Given the description of an element on the screen output the (x, y) to click on. 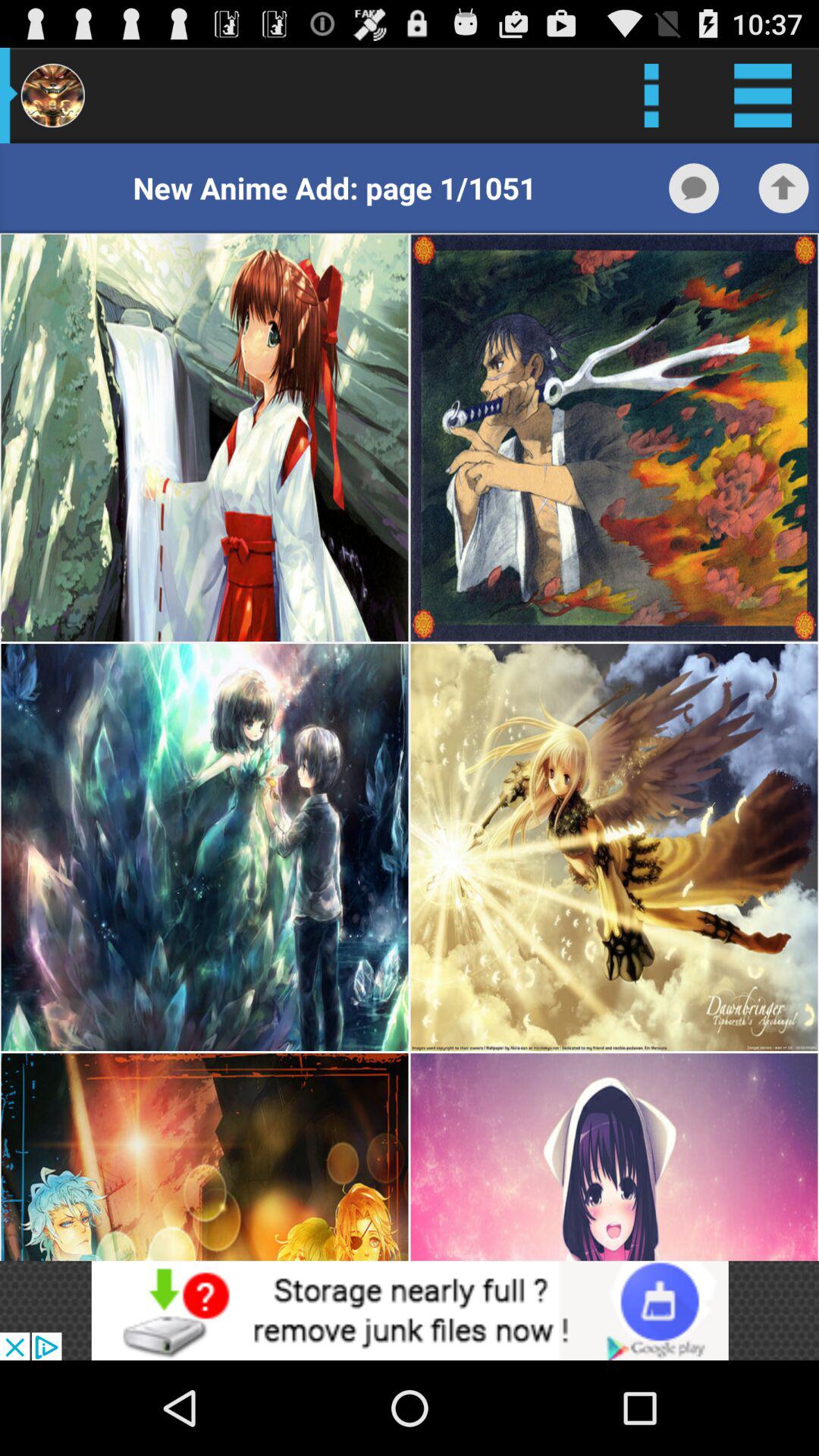
open advertisement (409, 1310)
